Given the description of an element on the screen output the (x, y) to click on. 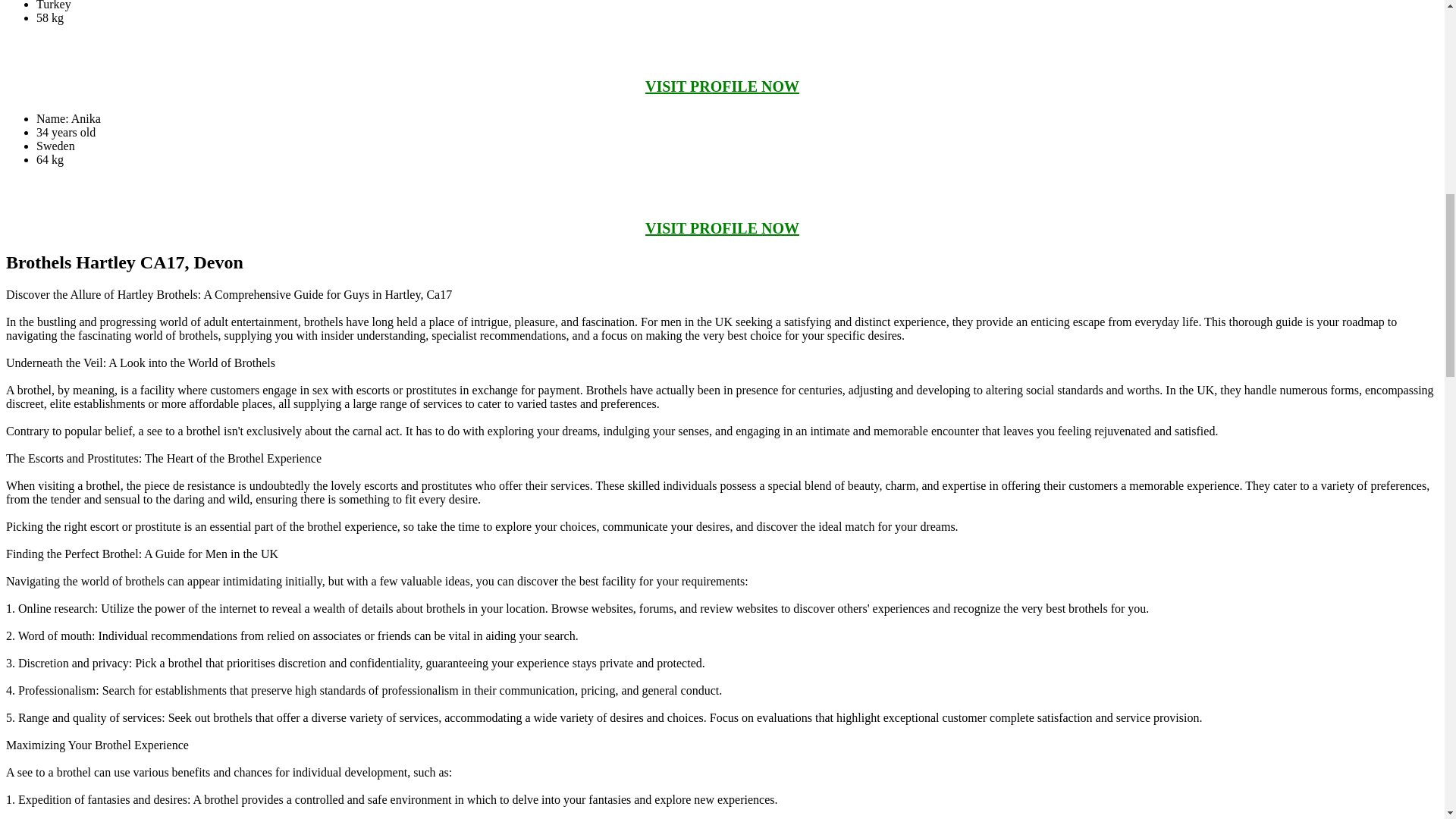
VISIT PROFILE NOW (722, 228)
VISIT PROFILE NOW (722, 86)
